Given the description of an element on the screen output the (x, y) to click on. 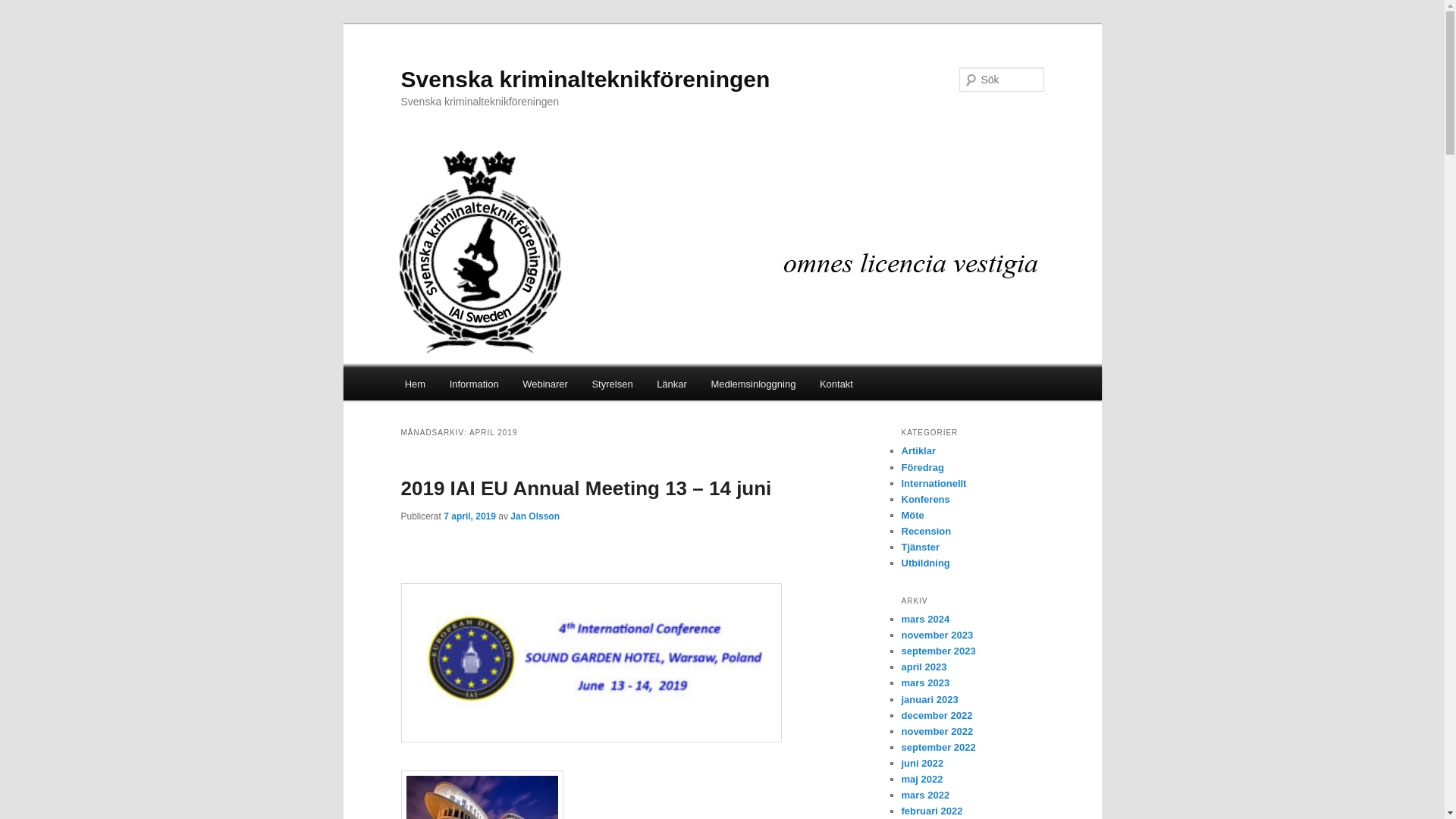
Information (474, 383)
Styrelsen (612, 383)
Kontakt (836, 383)
Webinarer (545, 383)
13:48 (470, 516)
Konferens (925, 499)
7 april, 2019 (470, 516)
Jan Olsson (535, 516)
Internationellt (933, 482)
Artiklar (918, 450)
